Given the description of an element on the screen output the (x, y) to click on. 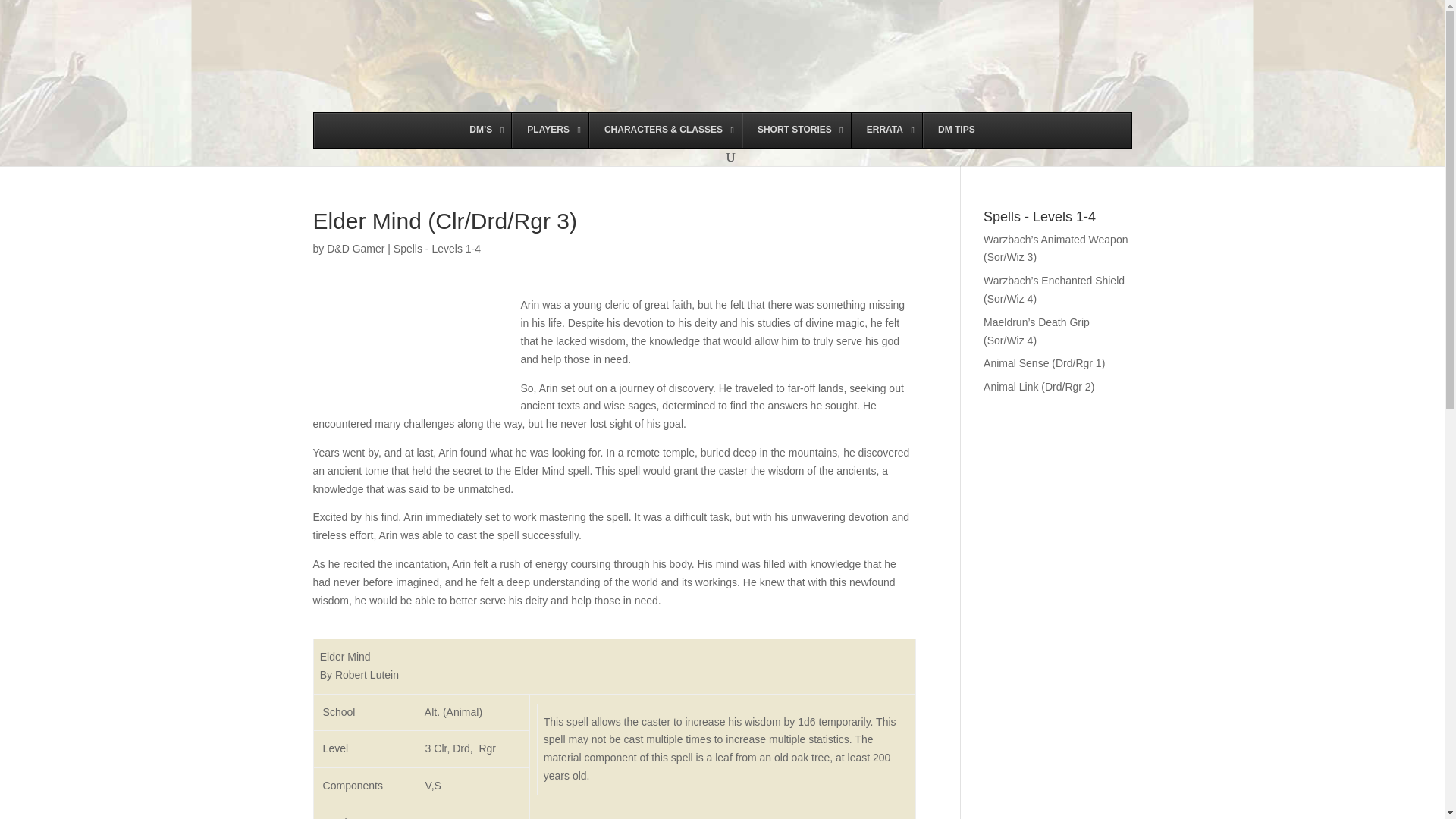
ERRATA (885, 130)
Dungeon Master Resources (482, 130)
SHORT STORIES (795, 130)
